Given the description of an element on the screen output the (x, y) to click on. 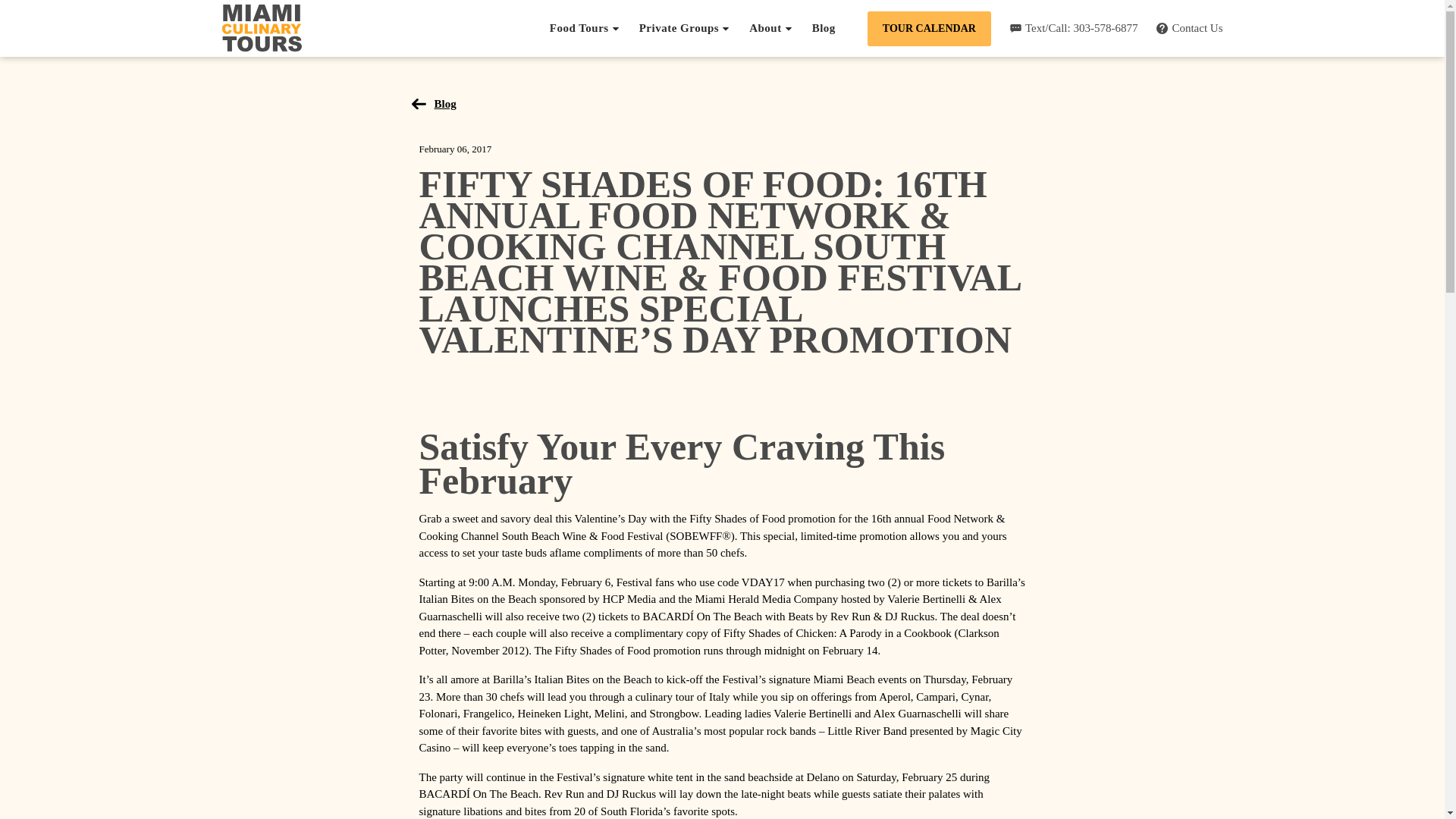
Contact Us (1189, 28)
TOUR CALENDAR (929, 27)
Private Groups (684, 28)
Blog (437, 103)
Food Tours (585, 28)
